Given the description of an element on the screen output the (x, y) to click on. 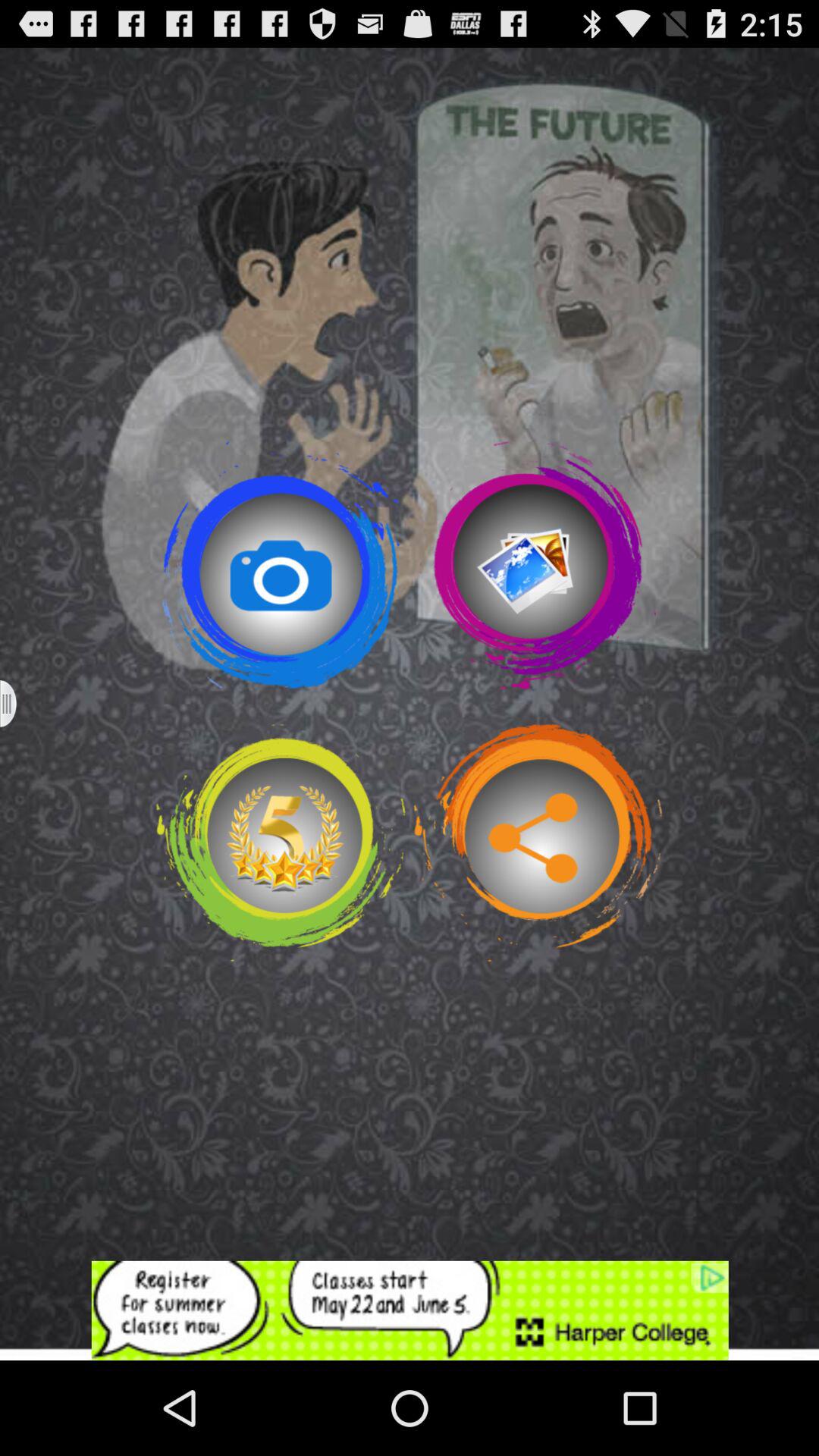
click the img (537, 564)
